Given the description of an element on the screen output the (x, y) to click on. 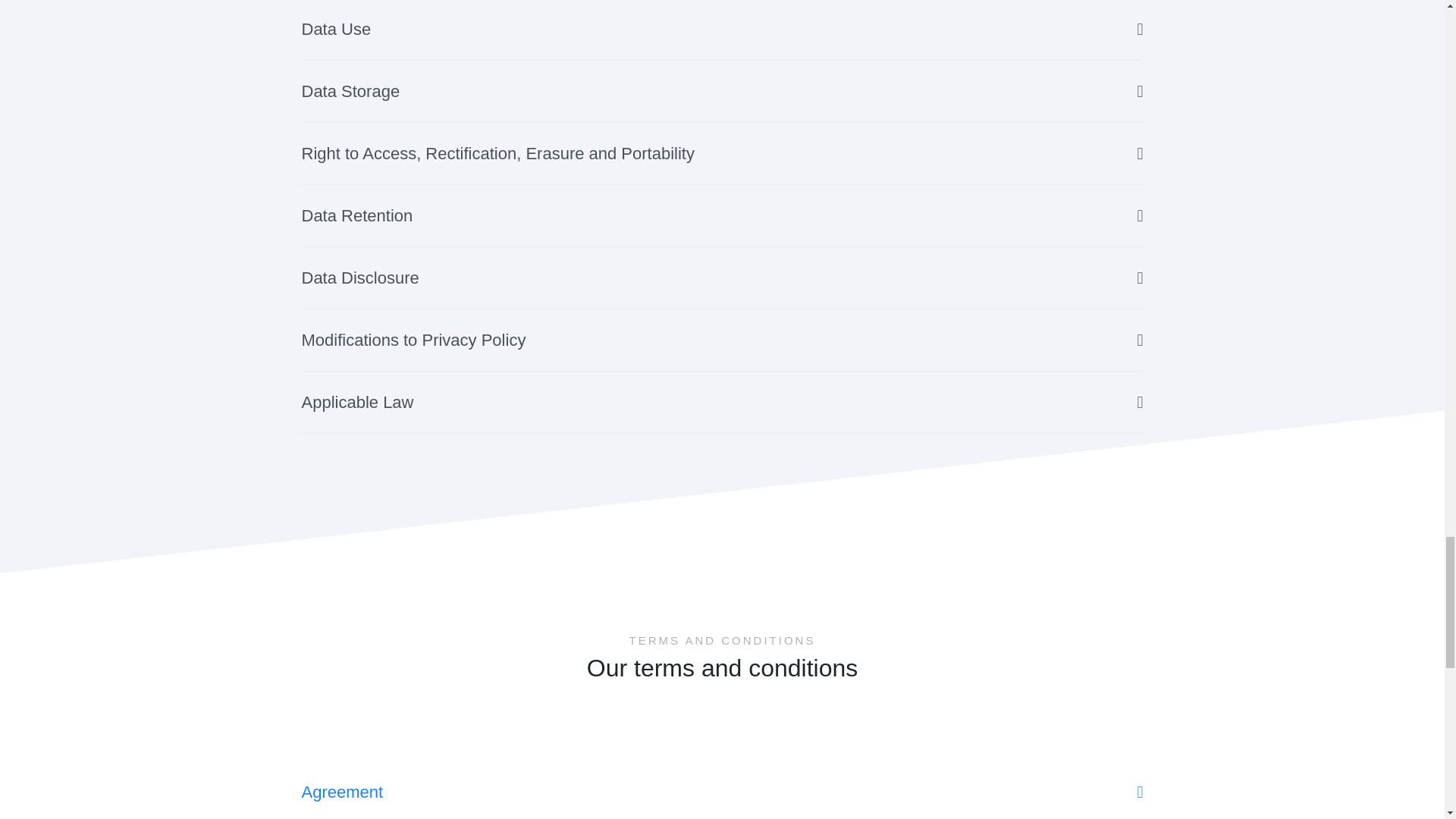
Data Disclosure (721, 278)
Data Storage (721, 91)
Data Retention (721, 216)
Right to Access, Rectification, Erasure and Portability (721, 153)
Applicable Law (721, 402)
Data Use (721, 30)
Agreement (721, 790)
Modifications to Privacy Policy (721, 340)
